Given the description of an element on the screen output the (x, y) to click on. 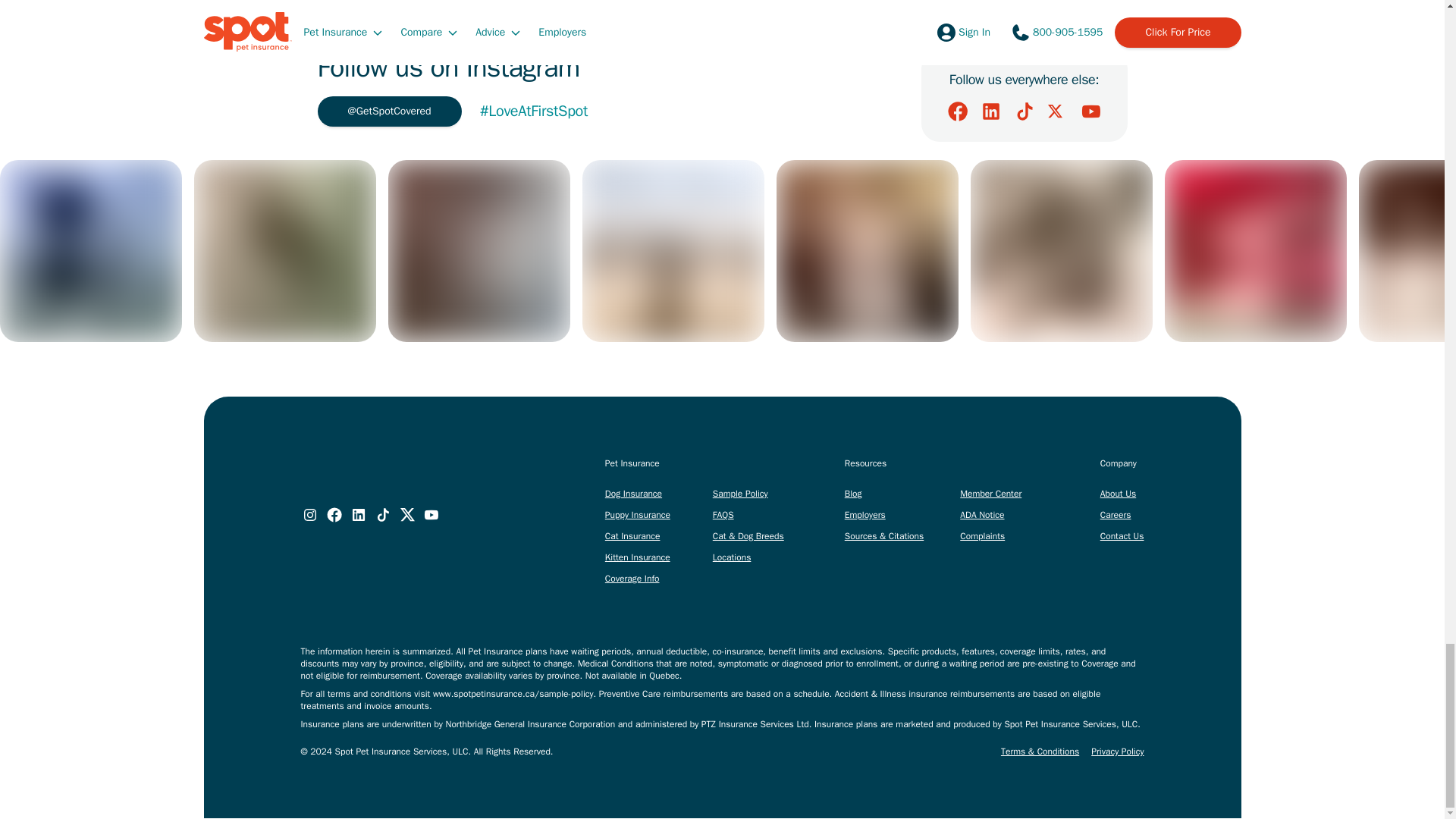
Spot on YouTube (1090, 111)
Spot on TikTok (1023, 111)
Spot on X (1056, 111)
Spot on LinkedIn (990, 111)
Spot on Facebook (956, 111)
